Given the description of an element on the screen output the (x, y) to click on. 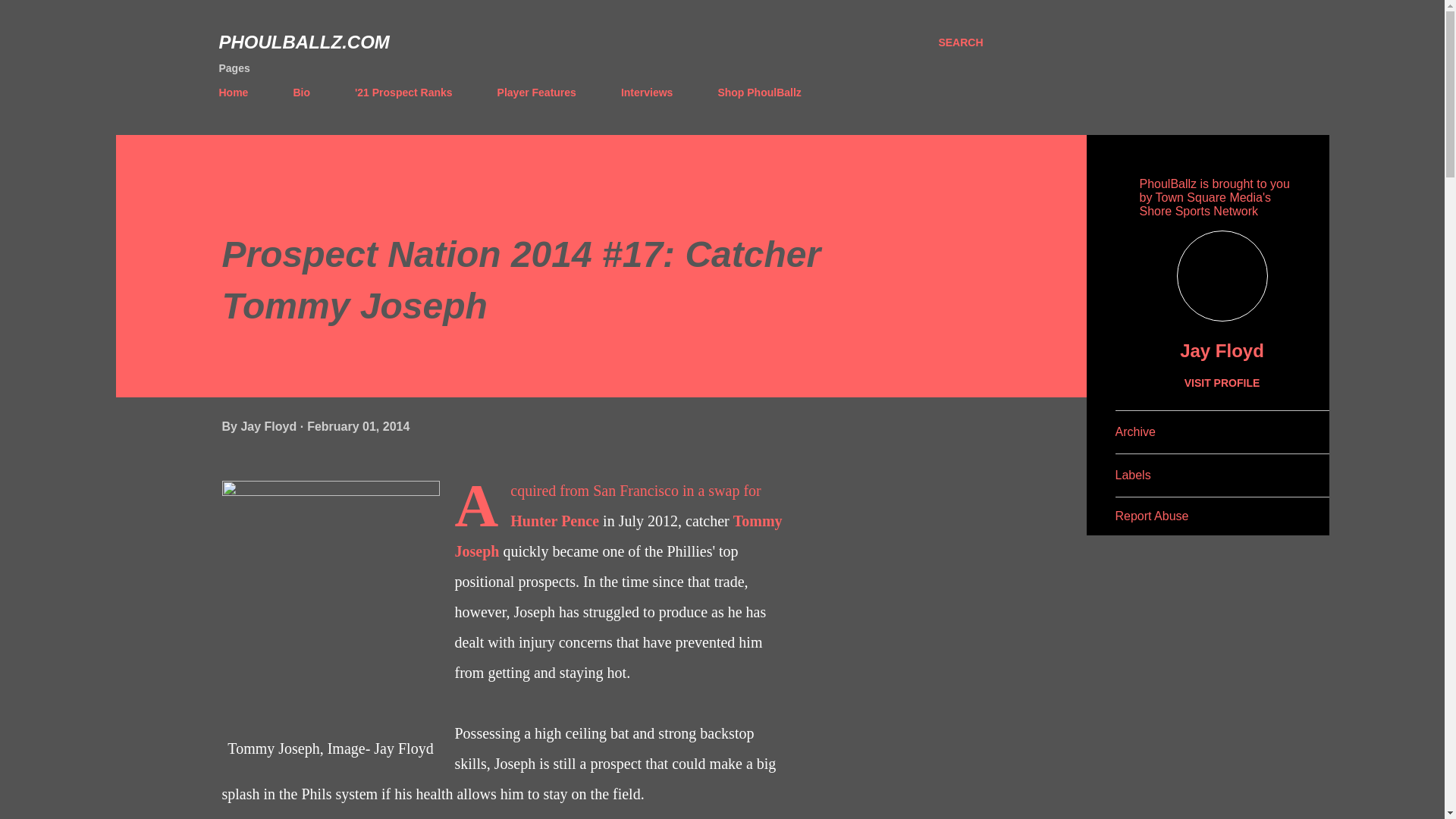
Shop PhoulBallz (758, 91)
SEARCH (959, 42)
author profile (269, 426)
Interviews (646, 91)
Player Features (536, 91)
Home (237, 91)
Hunter Pence (554, 520)
Tommy Joseph (618, 535)
PHOULBALLZ.COM (303, 41)
February 01, 2014 (358, 426)
